Given the description of an element on the screen output the (x, y) to click on. 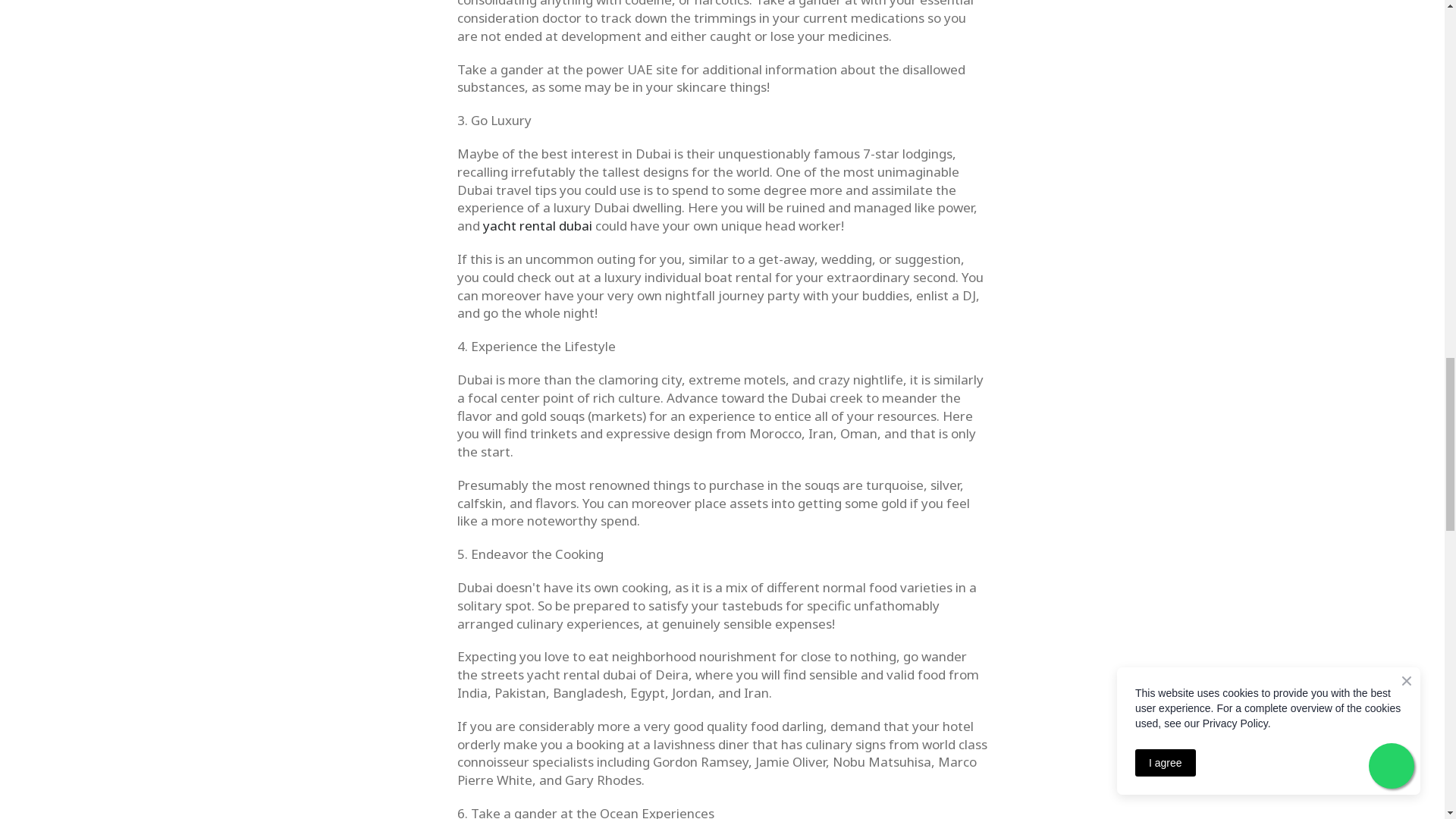
yacht rental dubai (536, 225)
